Given the description of an element on the screen output the (x, y) to click on. 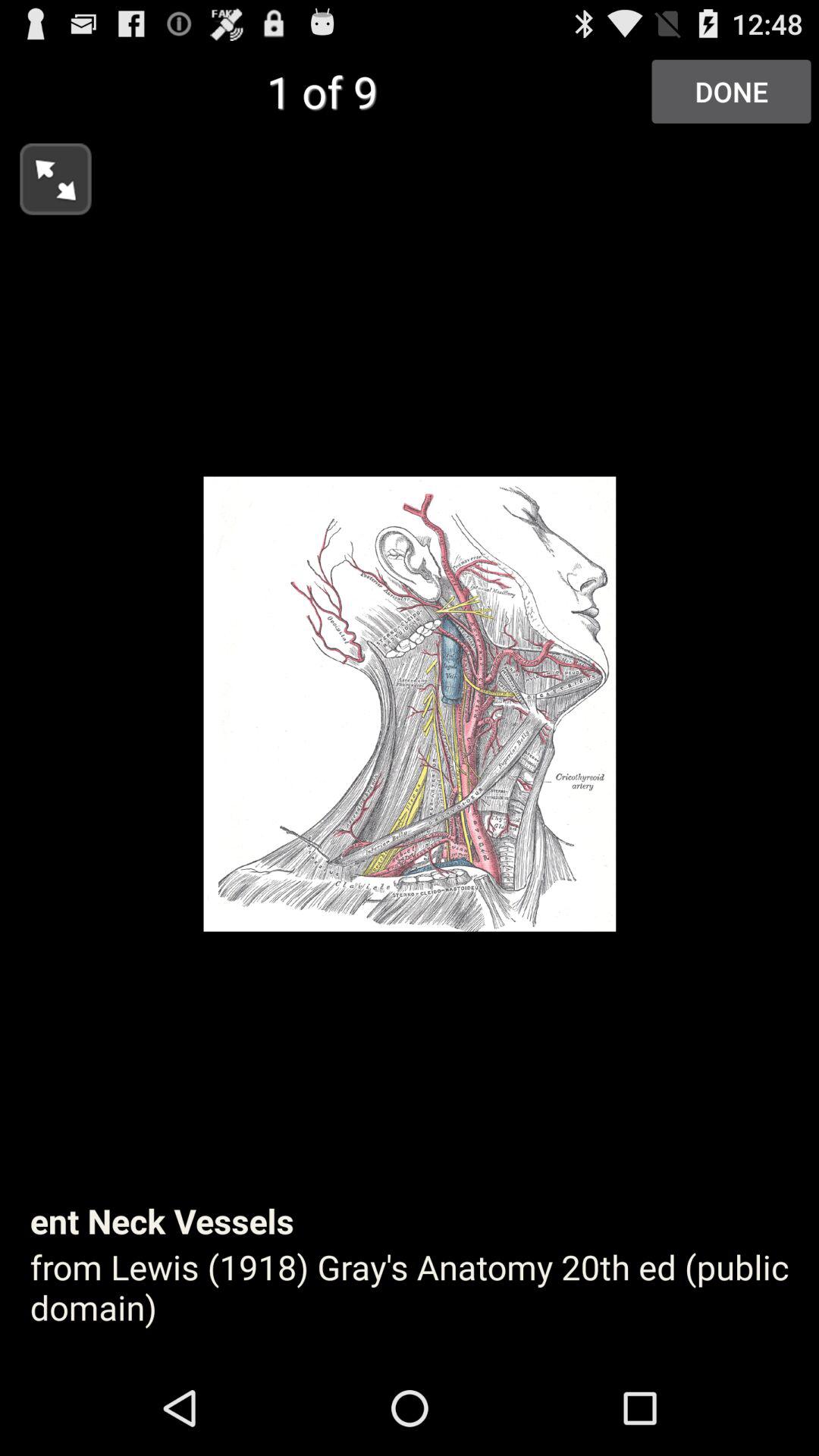
select the icon next to 1 of 9 icon (731, 91)
